Given the description of an element on the screen output the (x, y) to click on. 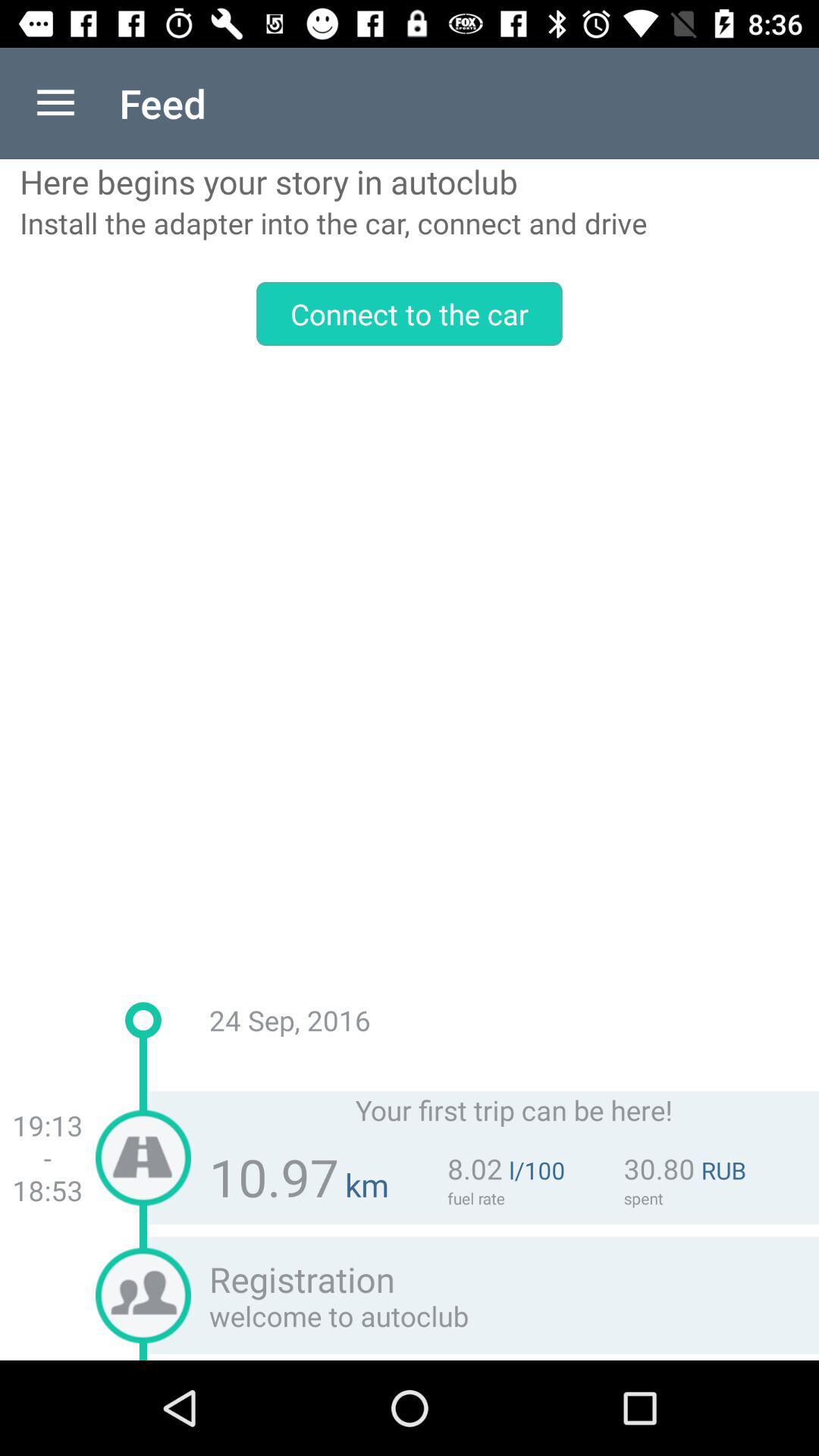
turn off the item above here begins your (55, 103)
